Given the description of an element on the screen output the (x, y) to click on. 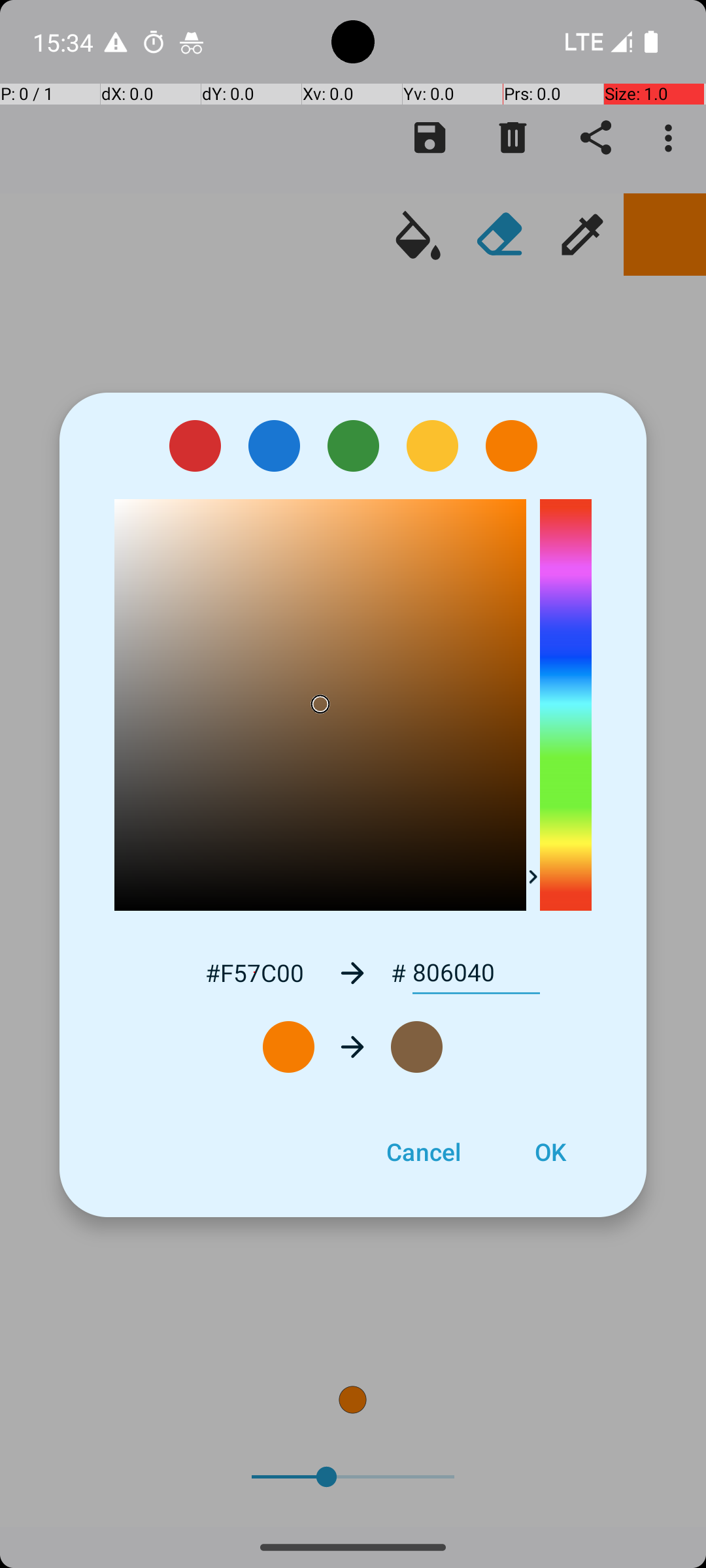
#F57C00 Element type: android.widget.TextView (254, 972)
# Element type: android.widget.TextView (397, 972)
806040 Element type: android.widget.EditText (475, 972)
